Given the description of an element on the screen output the (x, y) to click on. 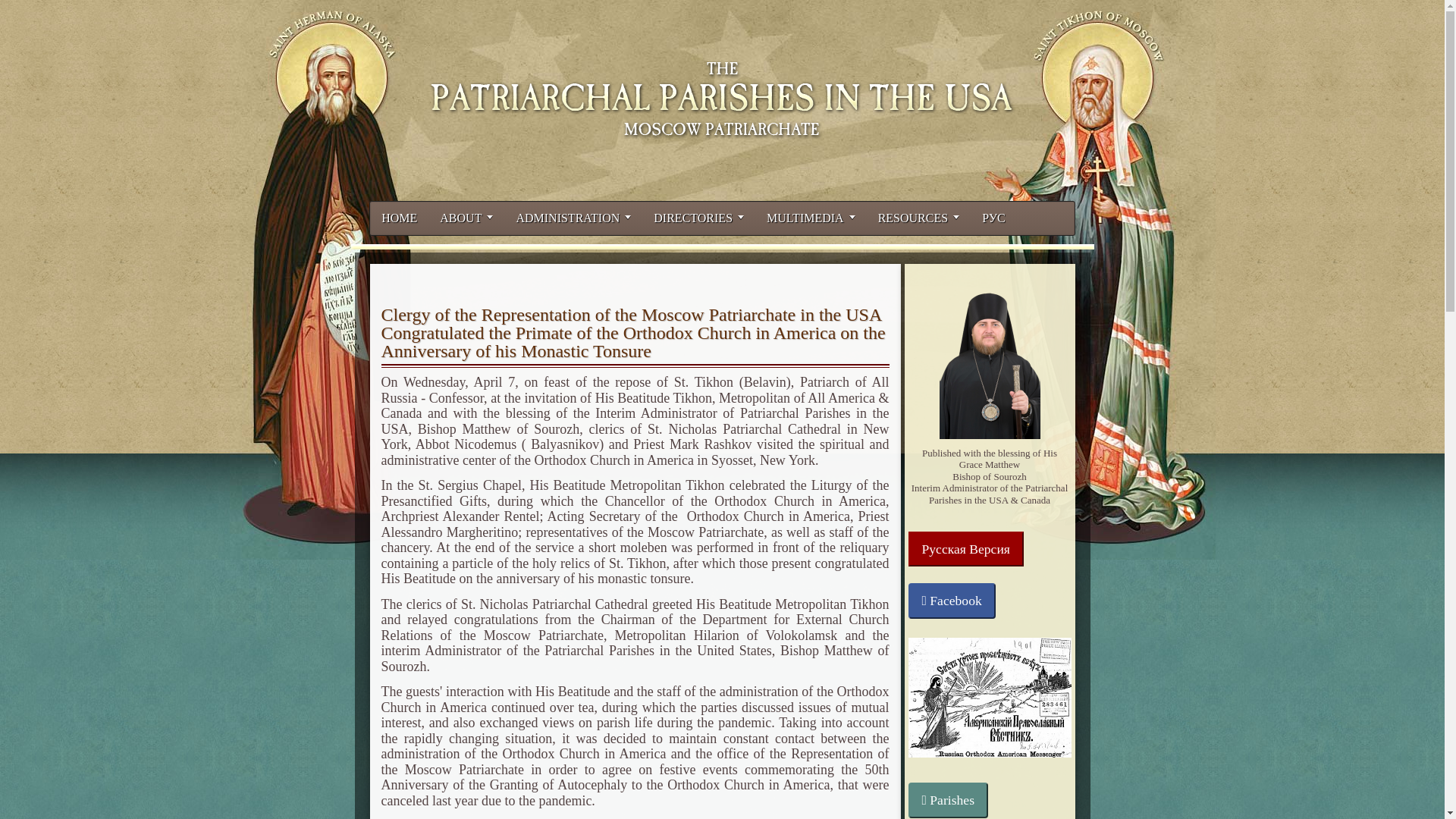
RESOURCES (918, 218)
ABOUT (465, 218)
ADMINISTRATION (572, 218)
MULTIMEDIA (810, 218)
DIRECTORIES (698, 218)
HOME (398, 218)
